Given the description of an element on the screen output the (x, y) to click on. 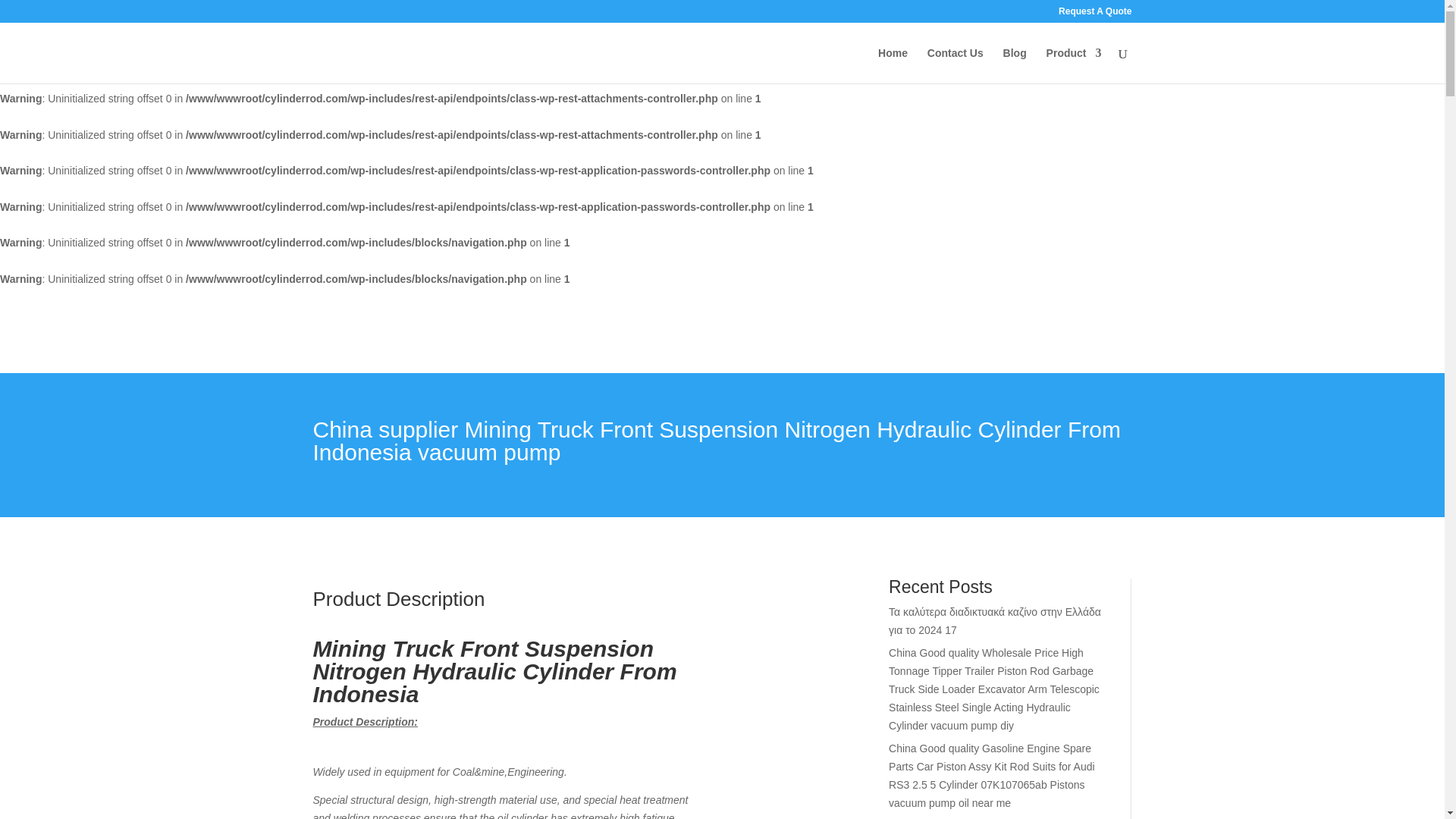
Contact Us (955, 65)
Request A Quote (1094, 14)
Product (1074, 65)
